Given the description of an element on the screen output the (x, y) to click on. 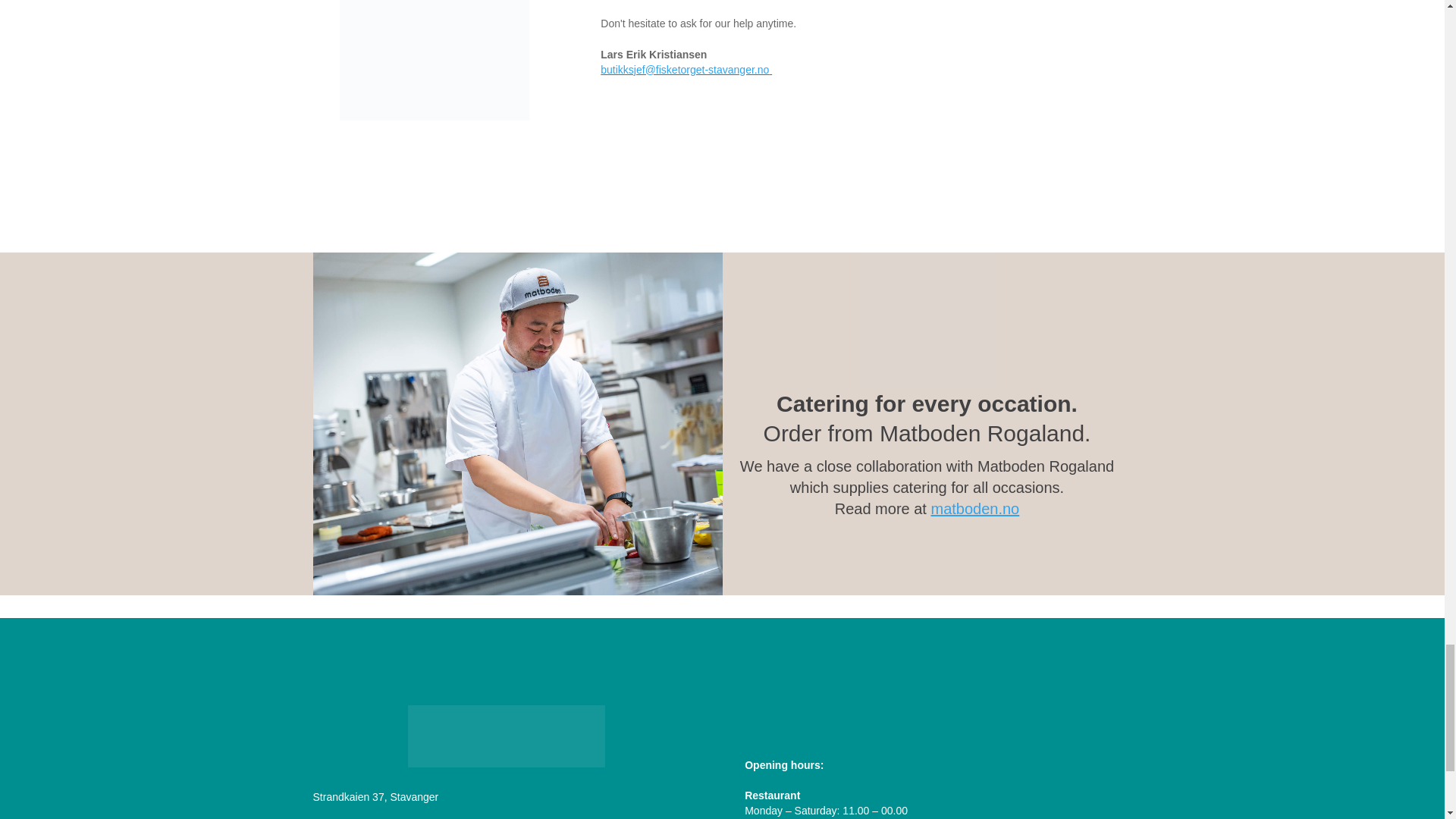
lars-erik-480x477 (434, 60)
matboden.no (974, 508)
Fisketorget Stavanger logo (506, 736)
